Given the description of an element on the screen output the (x, y) to click on. 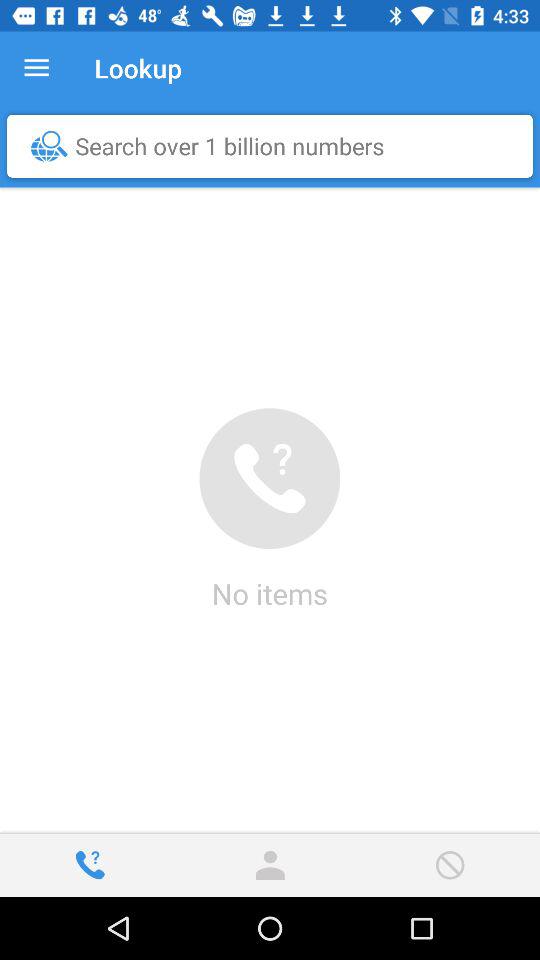
press the item to the left of the lookup (36, 68)
